Given the description of an element on the screen output the (x, y) to click on. 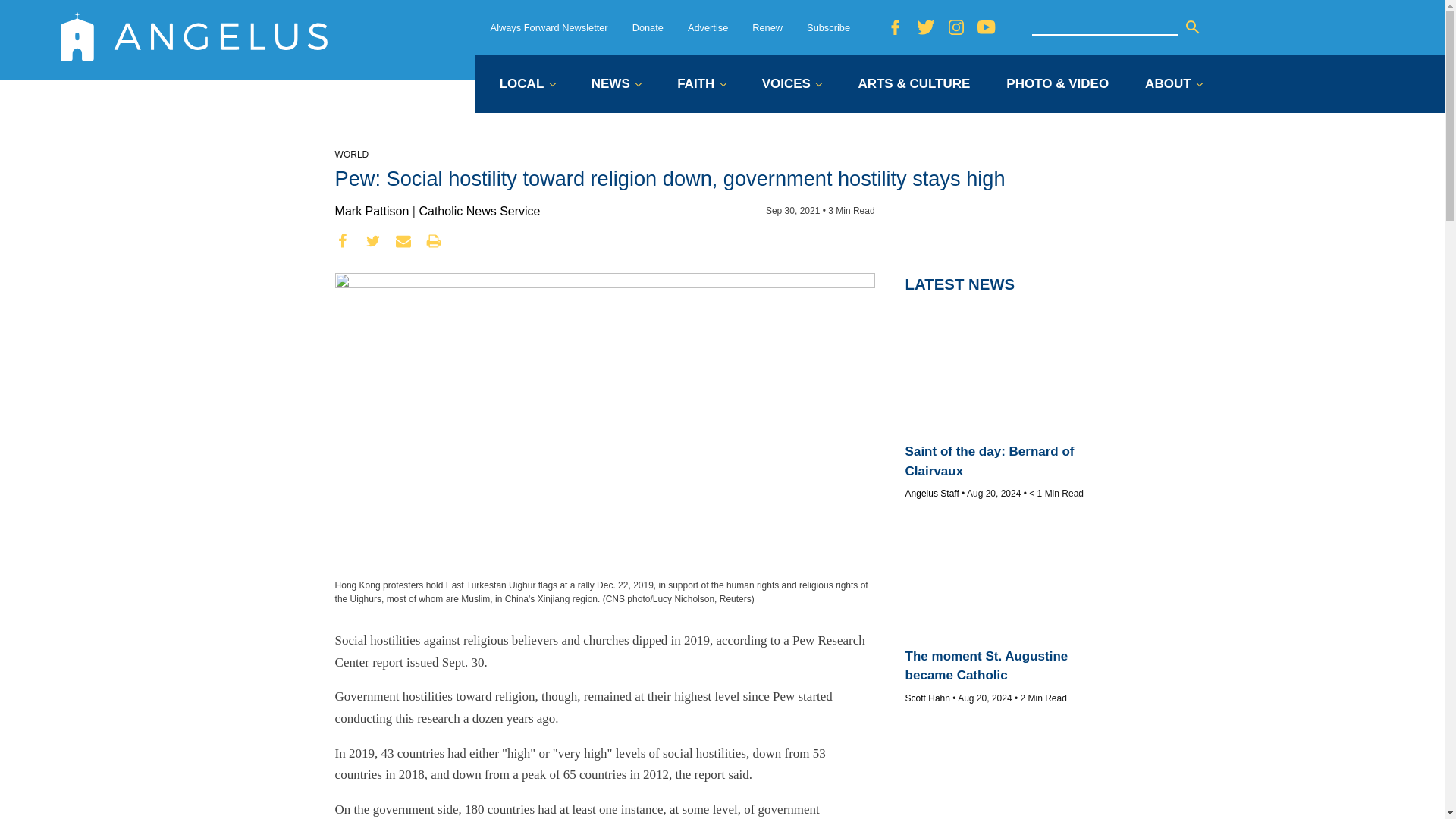
print (433, 240)
Renew (767, 27)
Posts by Scott Hahn (927, 697)
Donate (647, 27)
Always Forward Newsletter (549, 27)
LOCAL (526, 84)
Subscribe (828, 27)
facebook (342, 240)
Posts by Mark Pattison (371, 210)
Search (1192, 27)
